Given the description of an element on the screen output the (x, y) to click on. 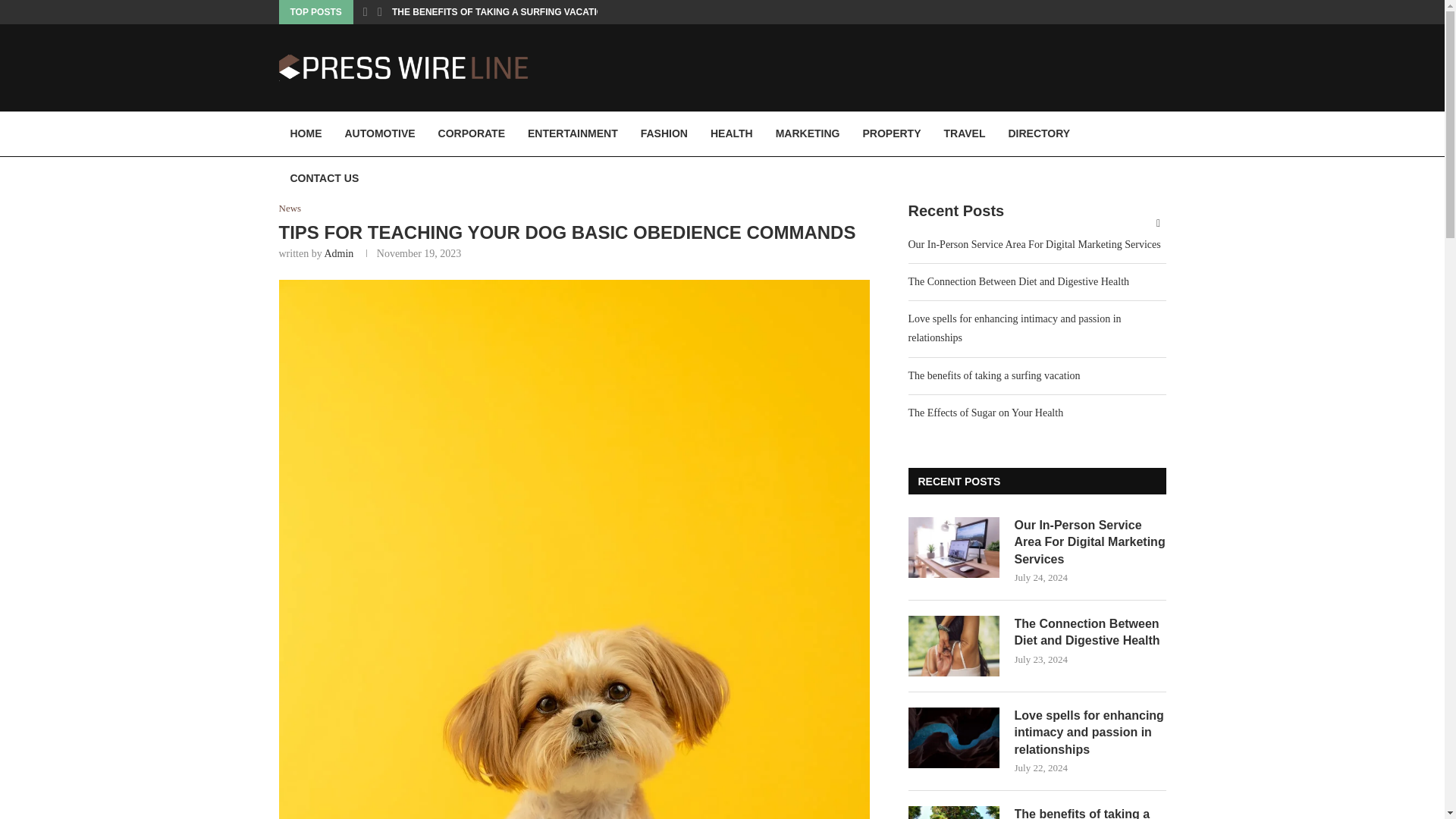
TRAVEL (965, 134)
ENTERTAINMENT (572, 134)
AUTOMOTIVE (379, 134)
News (290, 208)
FASHION (663, 134)
MARKETING (807, 134)
Admin (338, 253)
HOME (306, 134)
THE BENEFITS OF TAKING A SURFING VACATION (500, 12)
PROPERTY (890, 134)
HEALTH (731, 134)
CORPORATE (471, 134)
CONTACT US (325, 178)
DIRECTORY (1038, 134)
